Given the description of an element on the screen output the (x, y) to click on. 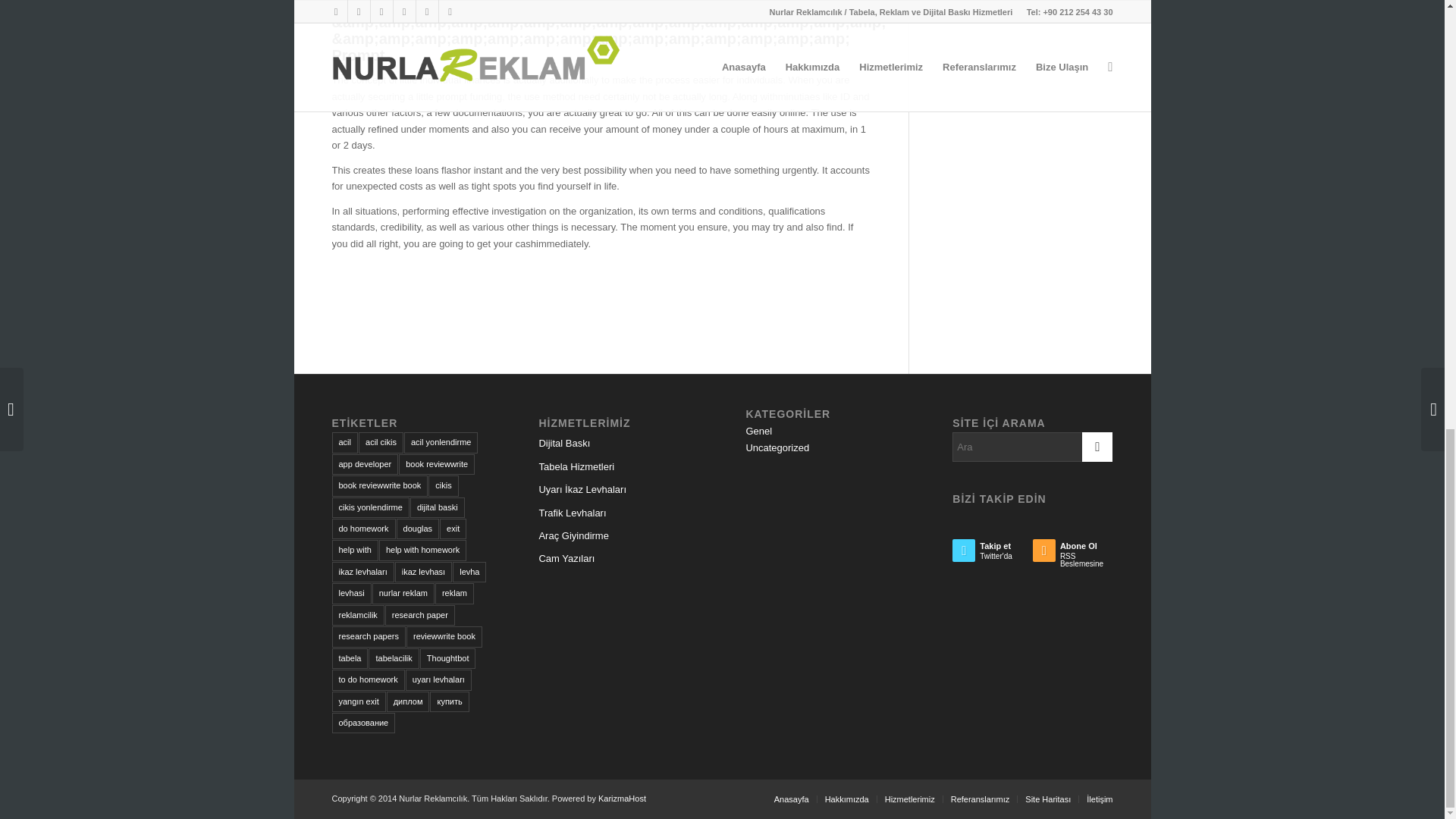
acil yonlendirme (440, 442)
book reviewwrite book (379, 485)
acil cikis (380, 442)
acil (344, 442)
app developer (364, 464)
25 konu (344, 442)
cikis (443, 485)
book reviewwrite (436, 464)
